Given the description of an element on the screen output the (x, y) to click on. 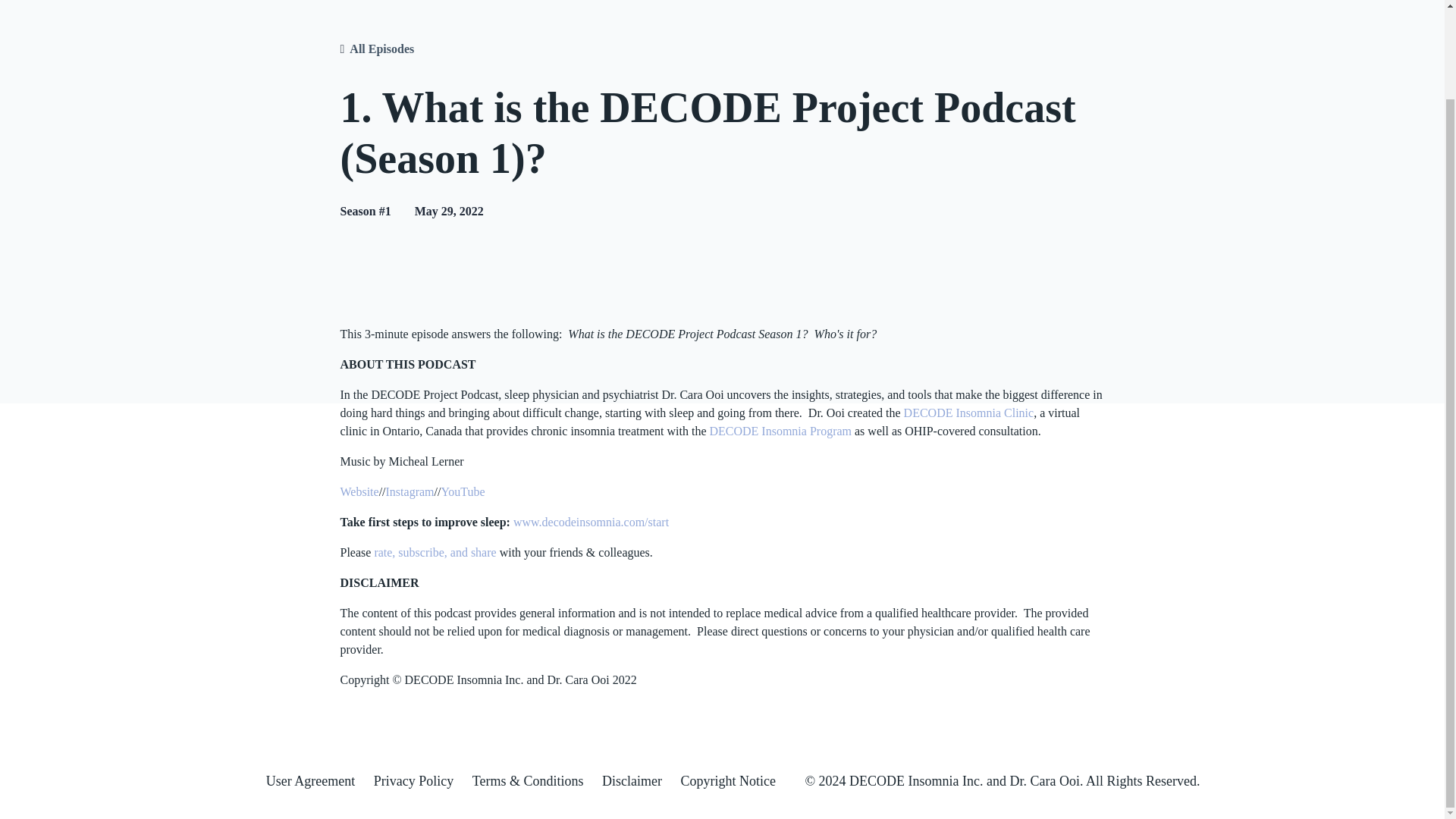
Website (358, 491)
rate, subscribe, and share (435, 552)
DECODE Insomnia Program (780, 431)
User Agreement (310, 780)
Disclaimer (632, 780)
All Episodes (381, 49)
May 29, 2022 at 12:00pm CST (448, 210)
DECODE Insomnia Clinic (968, 412)
Copyright Notice (728, 780)
Privacy Policy (414, 780)
Instagram (409, 491)
YouTube (462, 491)
